Given the description of an element on the screen output the (x, y) to click on. 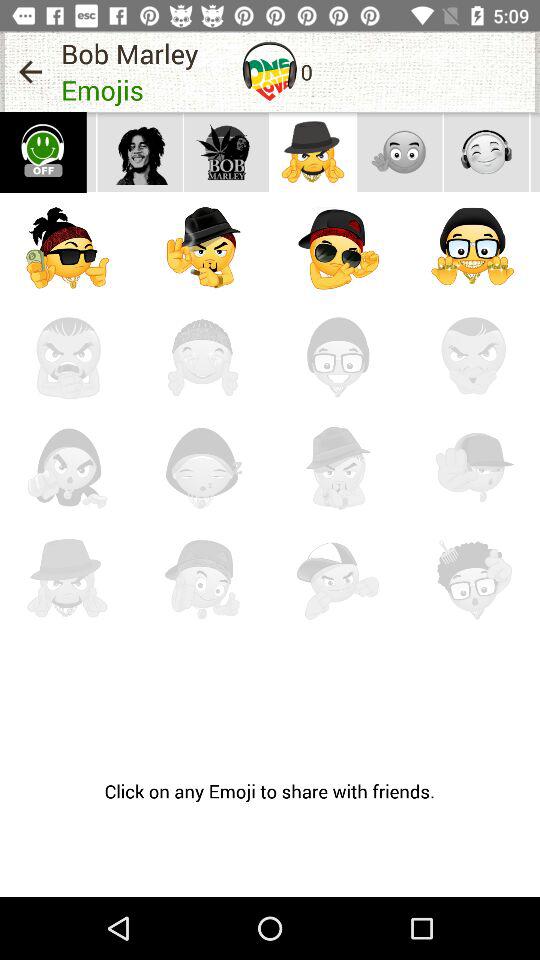
click item next to the bob marley item (269, 71)
